Given the description of an element on the screen output the (x, y) to click on. 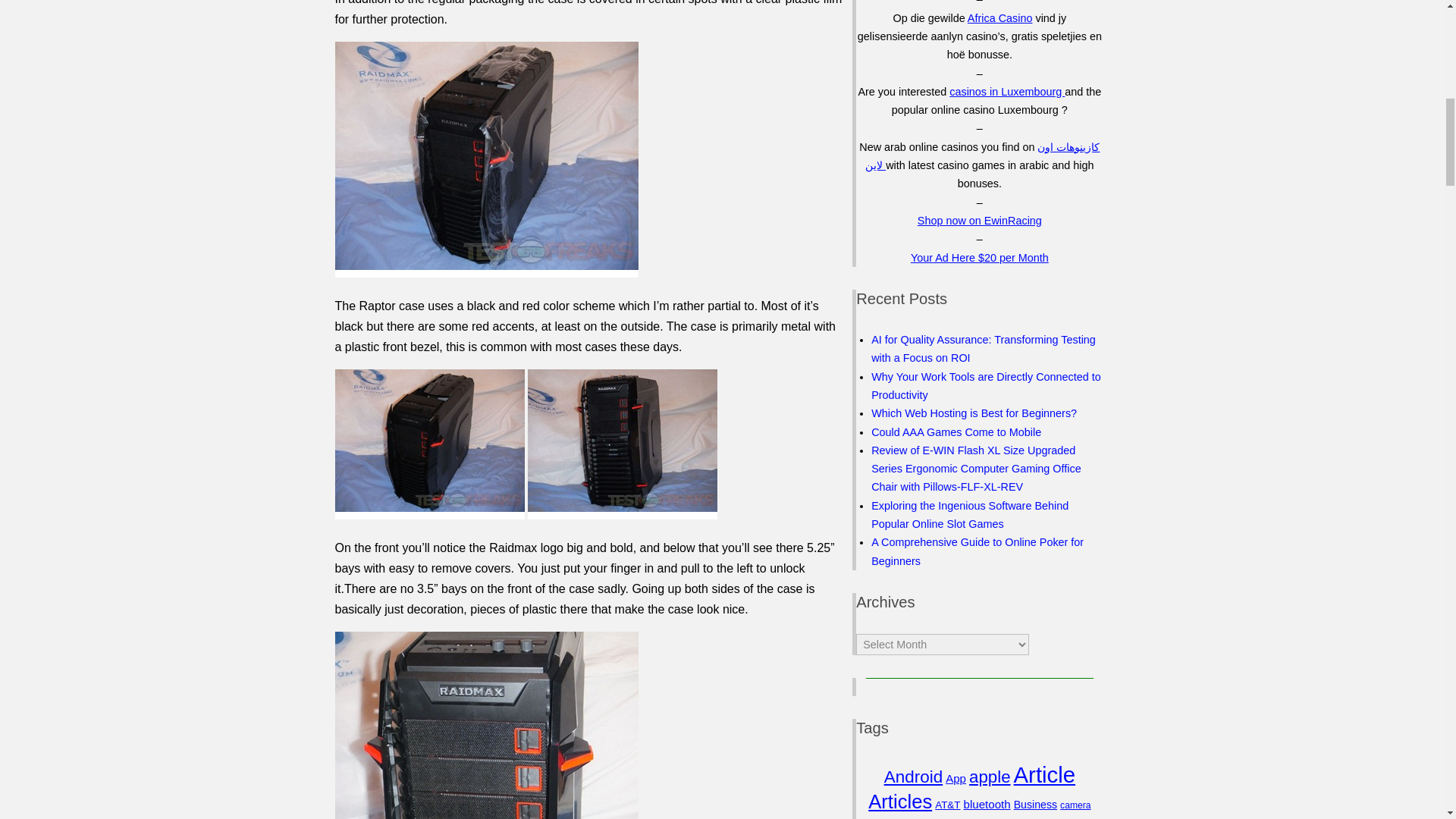
raptor8 (486, 725)
raptor5 (486, 159)
raptor6 (429, 444)
raptor7 (622, 444)
